Given the description of an element on the screen output the (x, y) to click on. 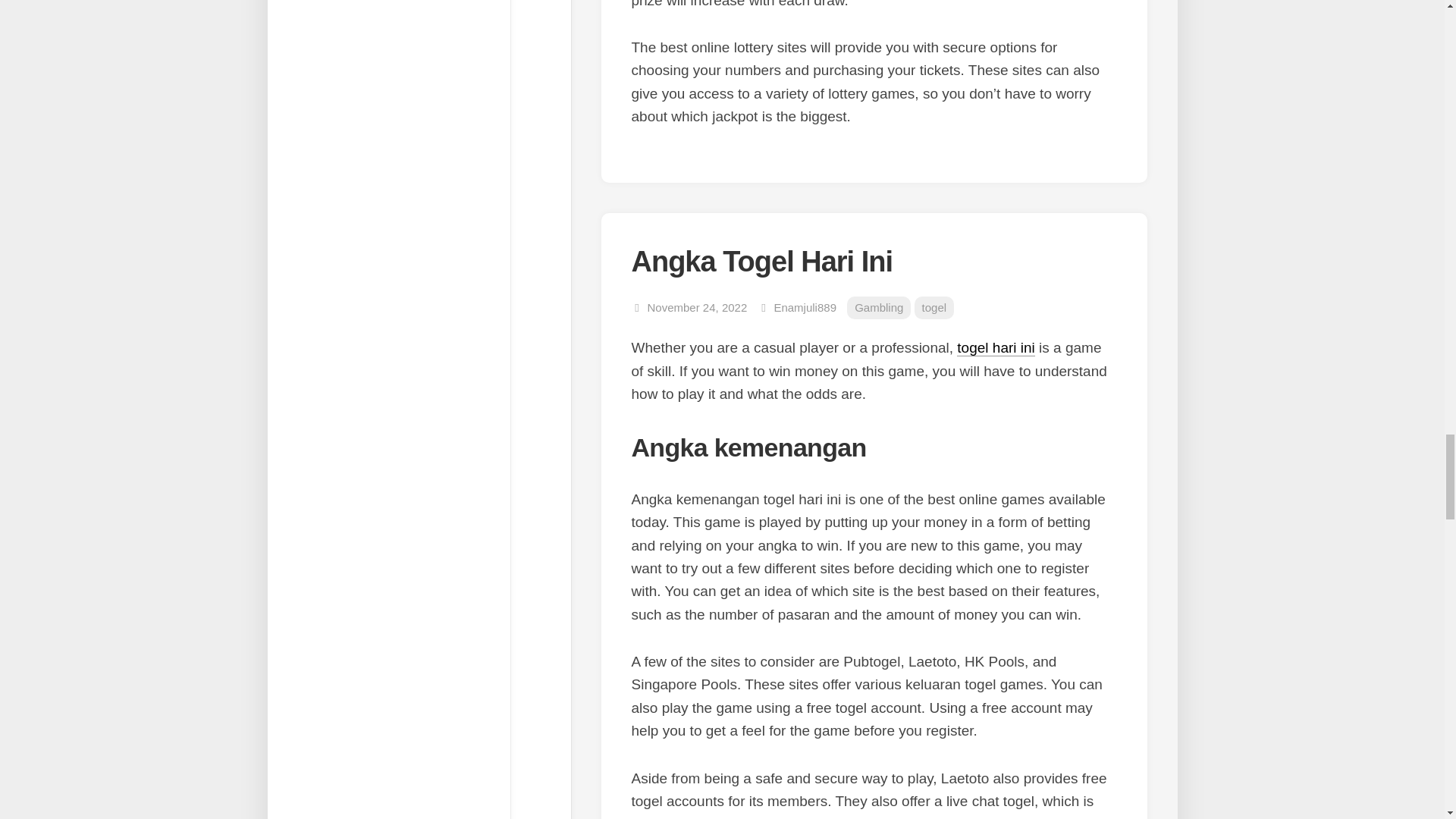
togel (934, 308)
Angka Togel Hari Ini (761, 261)
togel hari ini (994, 347)
Posts by Enamjuli889 (804, 307)
Gambling (879, 308)
Enamjuli889 (804, 307)
